Given the description of an element on the screen output the (x, y) to click on. 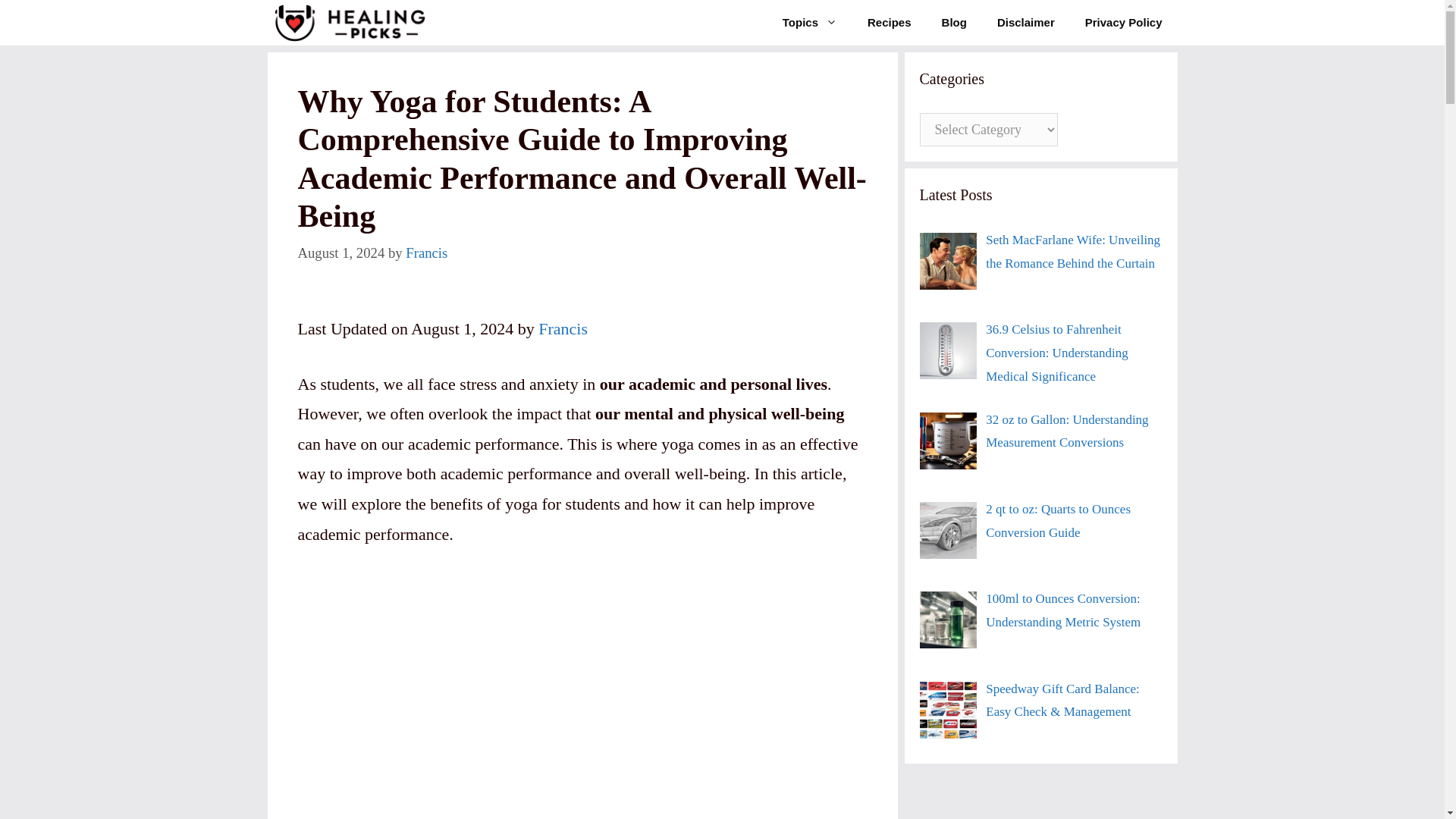
Francis (426, 252)
Disclaimer (1025, 22)
Francis (563, 328)
Recipes (888, 22)
Topics (809, 22)
View all posts by Francis (426, 252)
Blog (953, 22)
Privacy Policy (1123, 22)
